Given the description of an element on the screen output the (x, y) to click on. 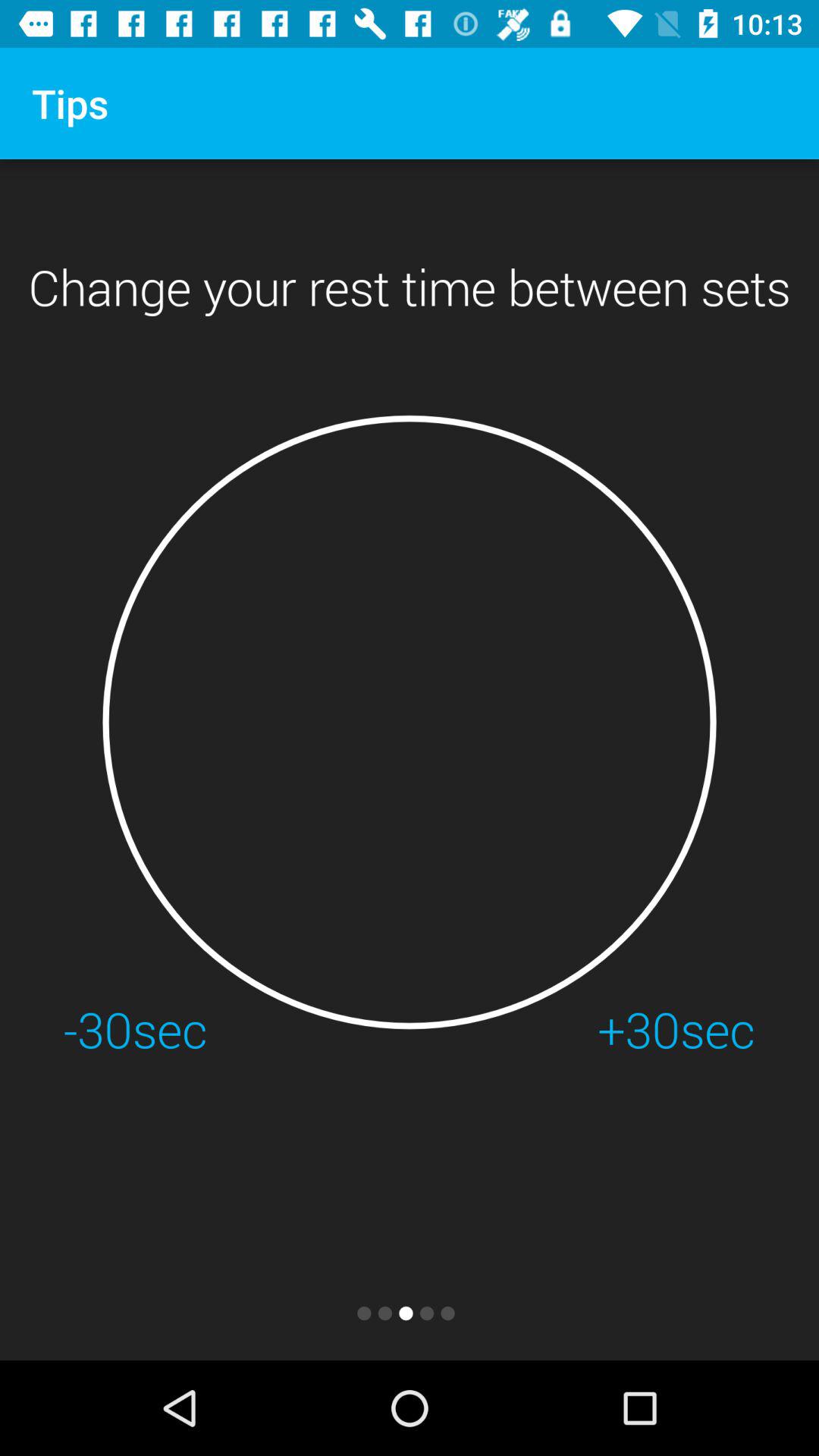
turn off the item below change your rest (409, 722)
